Given the description of an element on the screen output the (x, y) to click on. 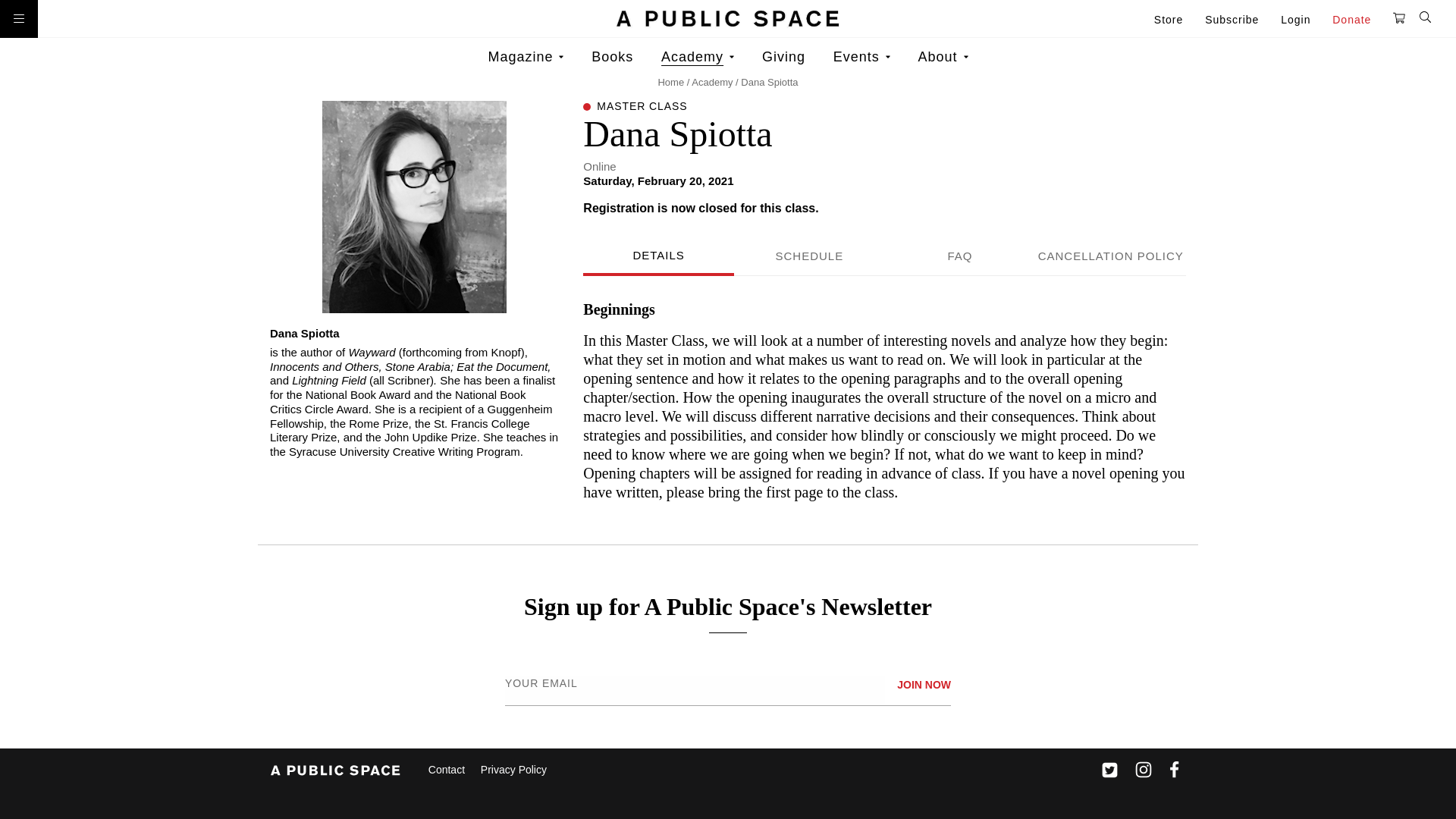
JOIN NOW (923, 684)
Subscribe (1240, 19)
Store (1177, 19)
